Given the description of an element on the screen output the (x, y) to click on. 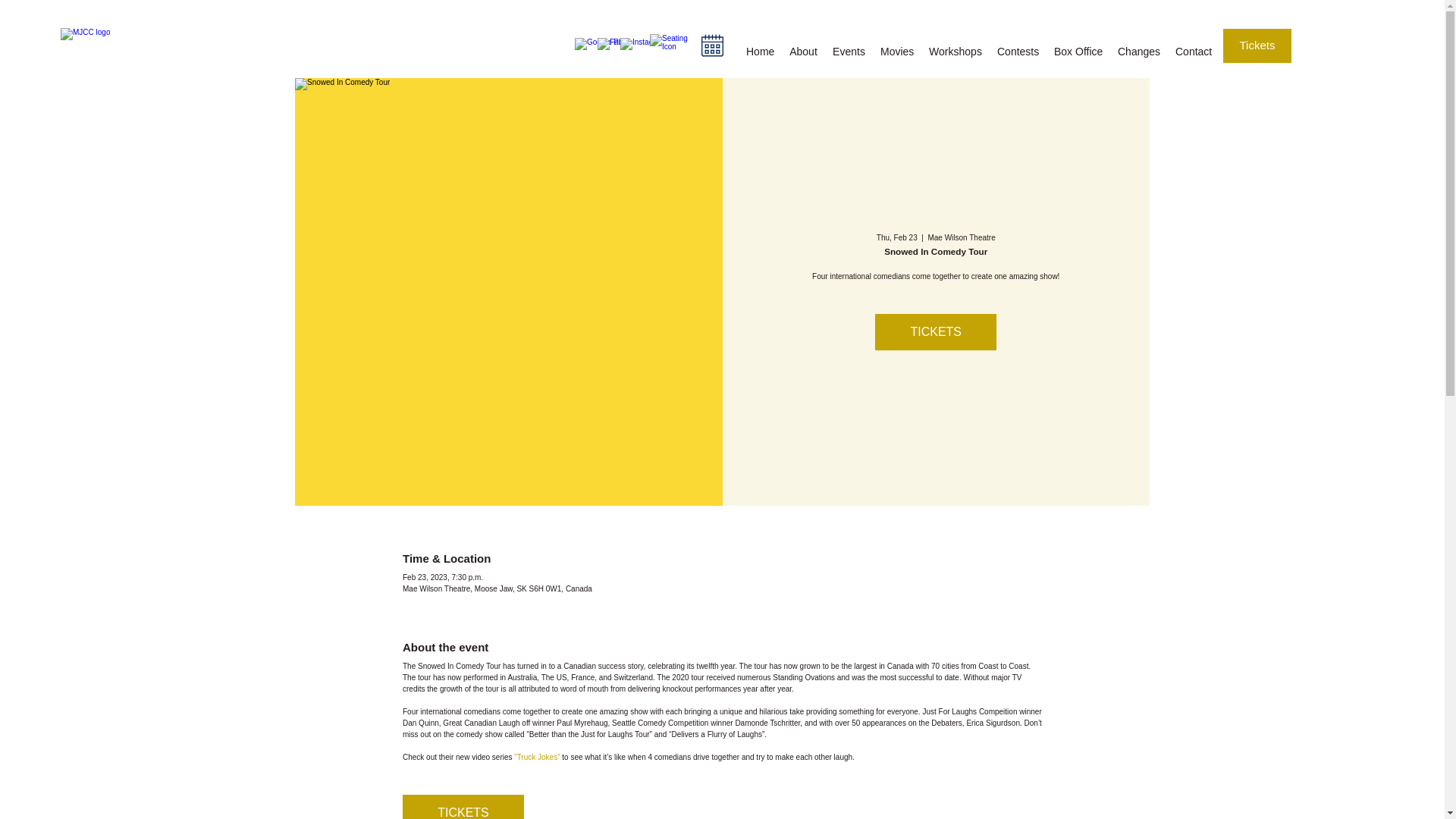
TICKETS (463, 806)
TICKETS (935, 331)
Movies (896, 51)
Box Office (1077, 51)
Tickets (1257, 45)
Contests (1018, 51)
Home (759, 51)
Changes (1138, 51)
Workshops (955, 51)
Contact (1193, 51)
